Given the description of an element on the screen output the (x, y) to click on. 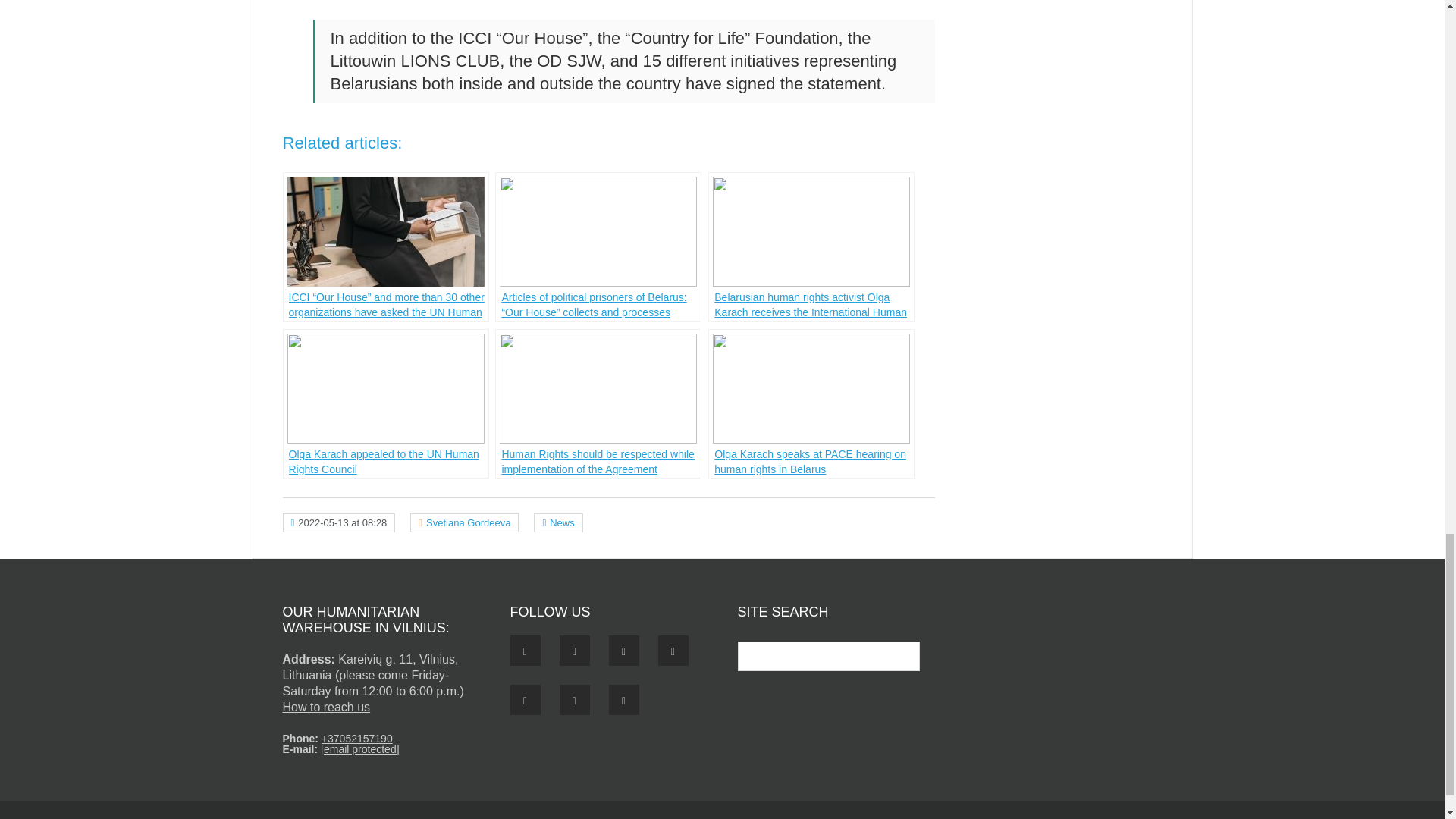
Olga Karach appealed to the UN Human Rights Council (384, 403)
